Given the description of an element on the screen output the (x, y) to click on. 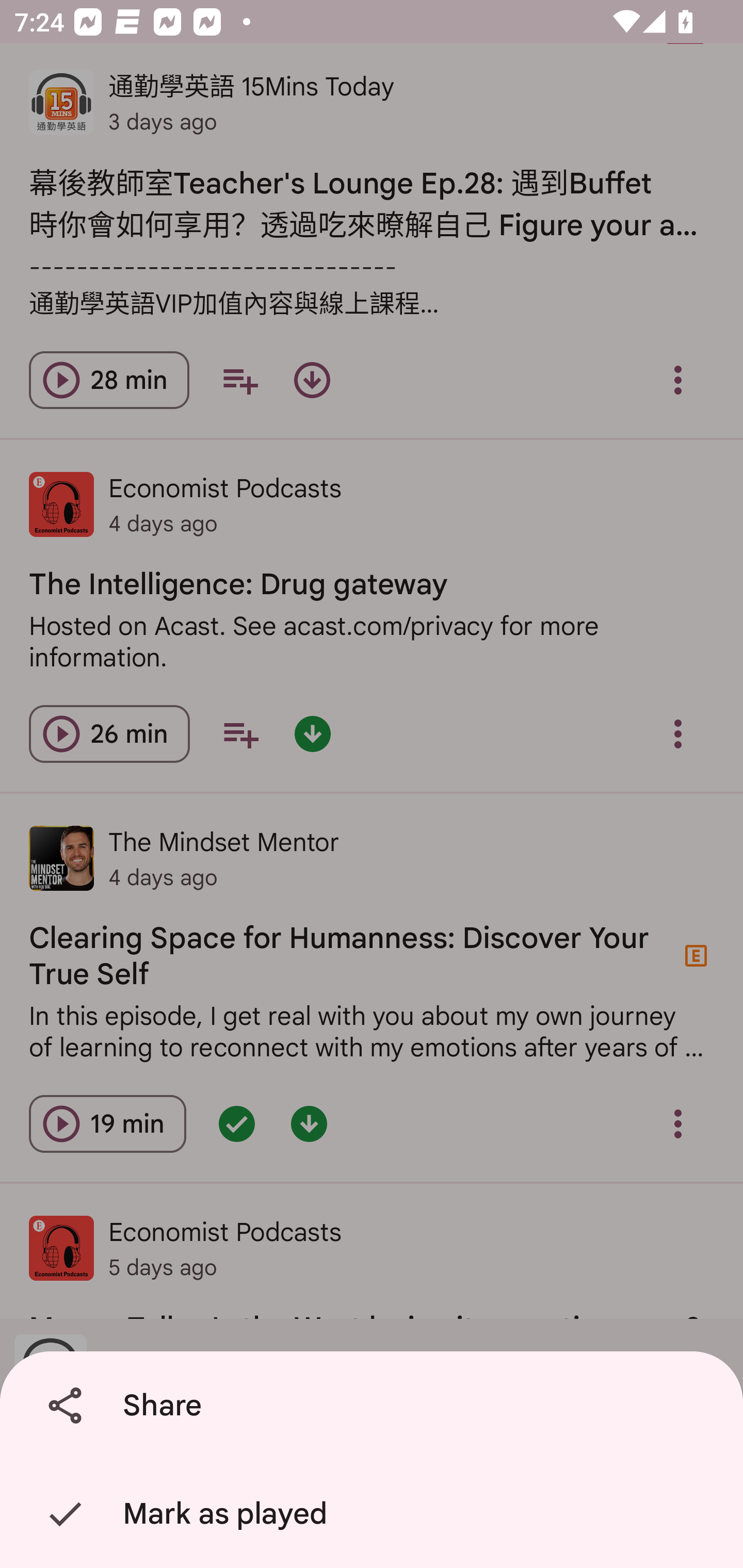
Share (375, 1405)
Mark as played (375, 1513)
